Given the description of an element on the screen output the (x, y) to click on. 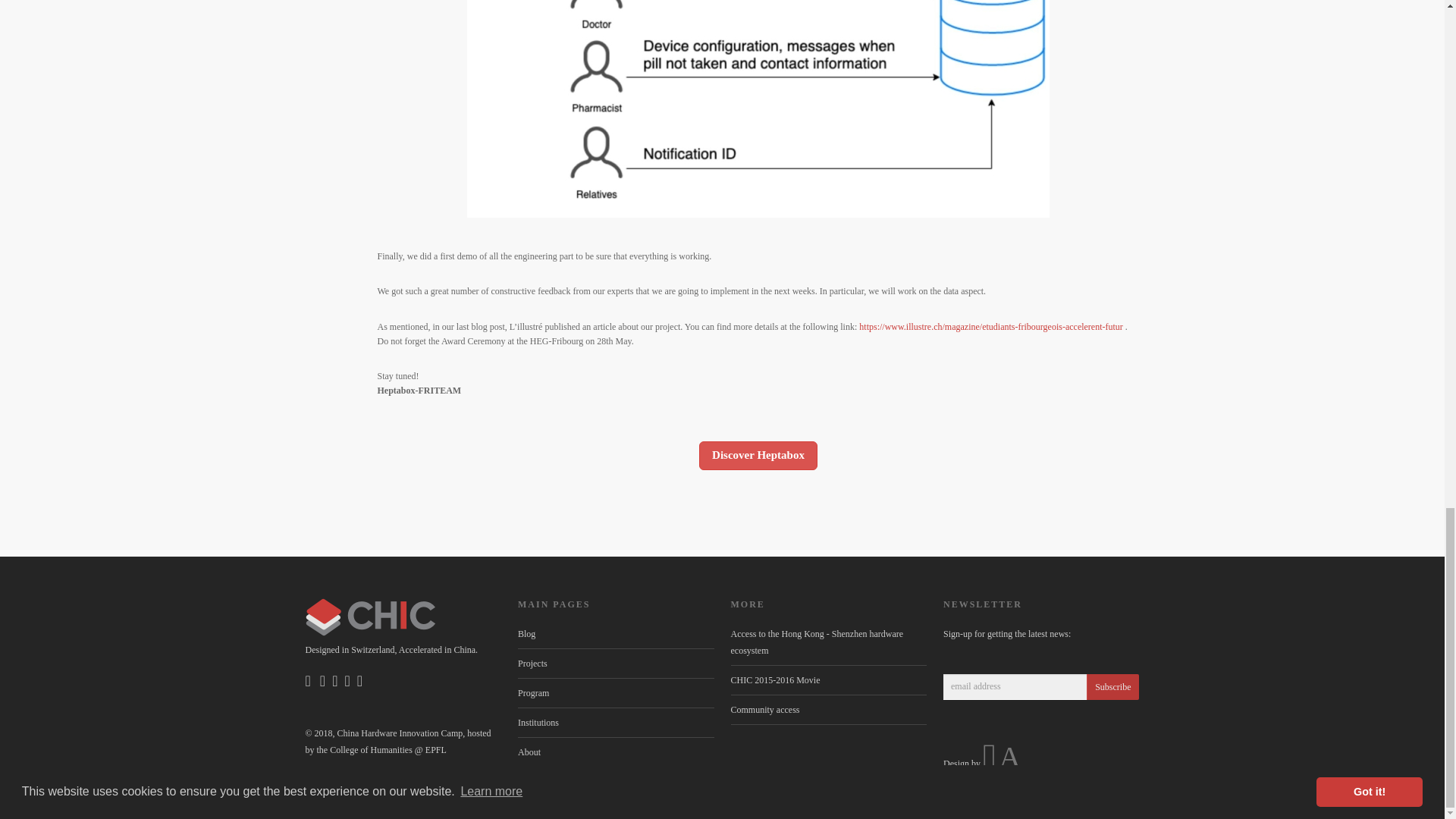
Subscribe (1112, 687)
Blog (526, 633)
Institutions (538, 722)
CHIC 2015-2016 Movie (775, 679)
Discover Heptabox (757, 455)
Projects (532, 663)
About (529, 751)
Program (533, 692)
Access to the Hong Kong - Shenzhen hardware ecosystem (817, 642)
Subscribe (1112, 687)
Community access (764, 709)
